Given the description of an element on the screen output the (x, y) to click on. 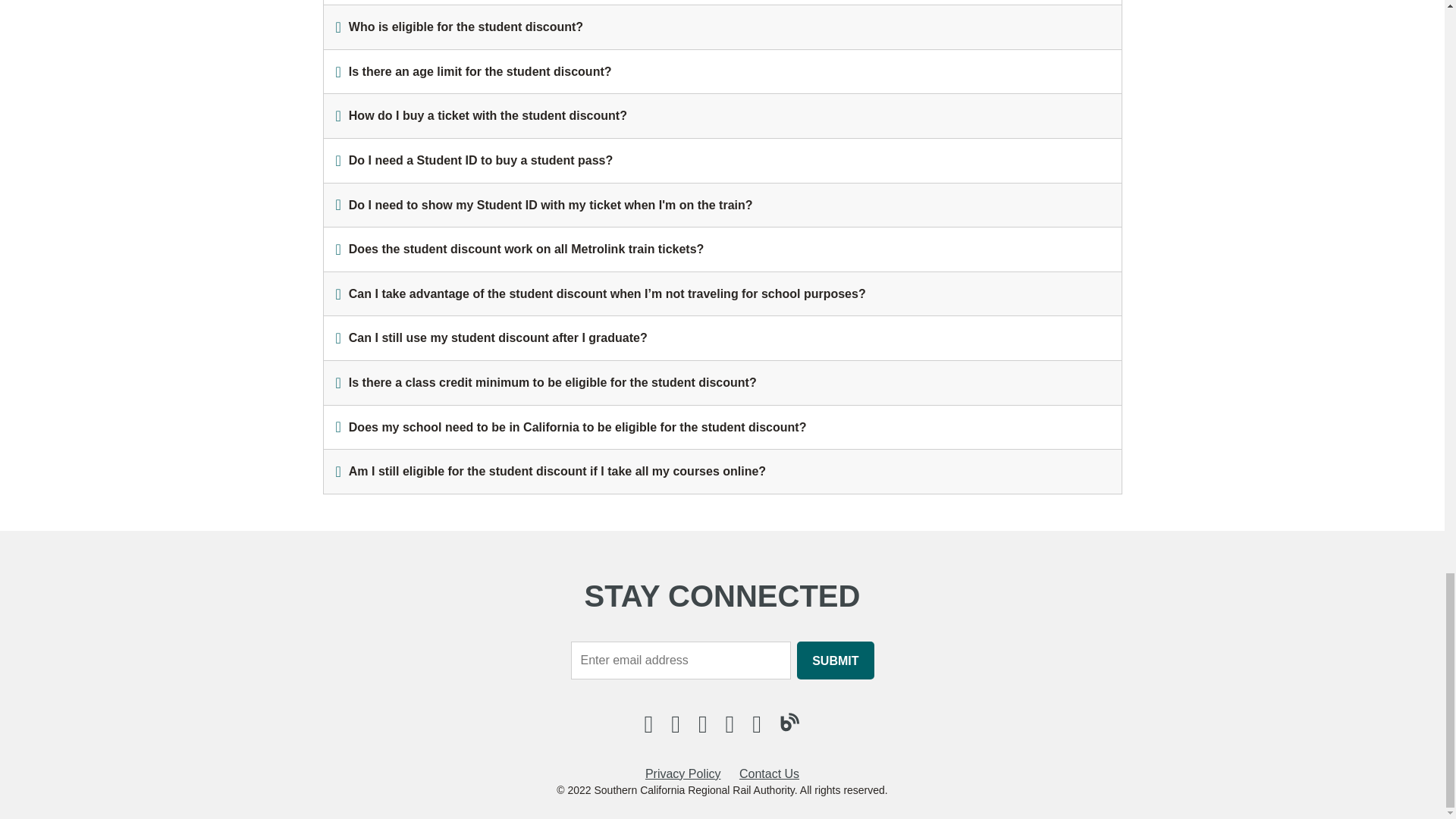
Metrolink Matters Blog Icon (789, 721)
